Given the description of an element on the screen output the (x, y) to click on. 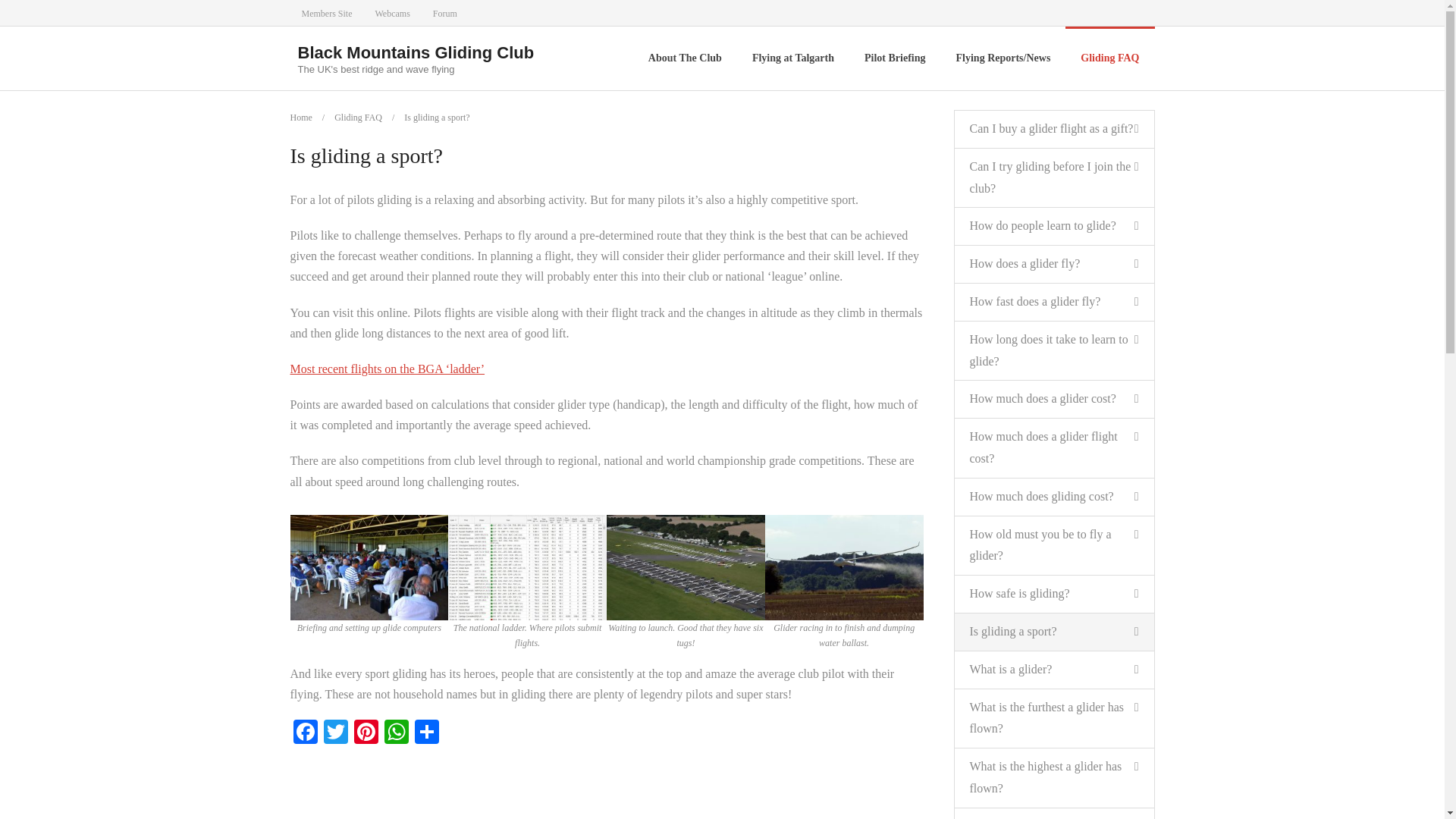
Pilot Briefing (894, 58)
Members Site (325, 12)
The UK's best ridge and wave flying (415, 69)
About The Club (684, 58)
Flying at Talgarth (792, 58)
Gliding FAQ (1109, 58)
WhatsApp (395, 733)
Webcams (393, 12)
Pinterest (365, 733)
